Given the description of an element on the screen output the (x, y) to click on. 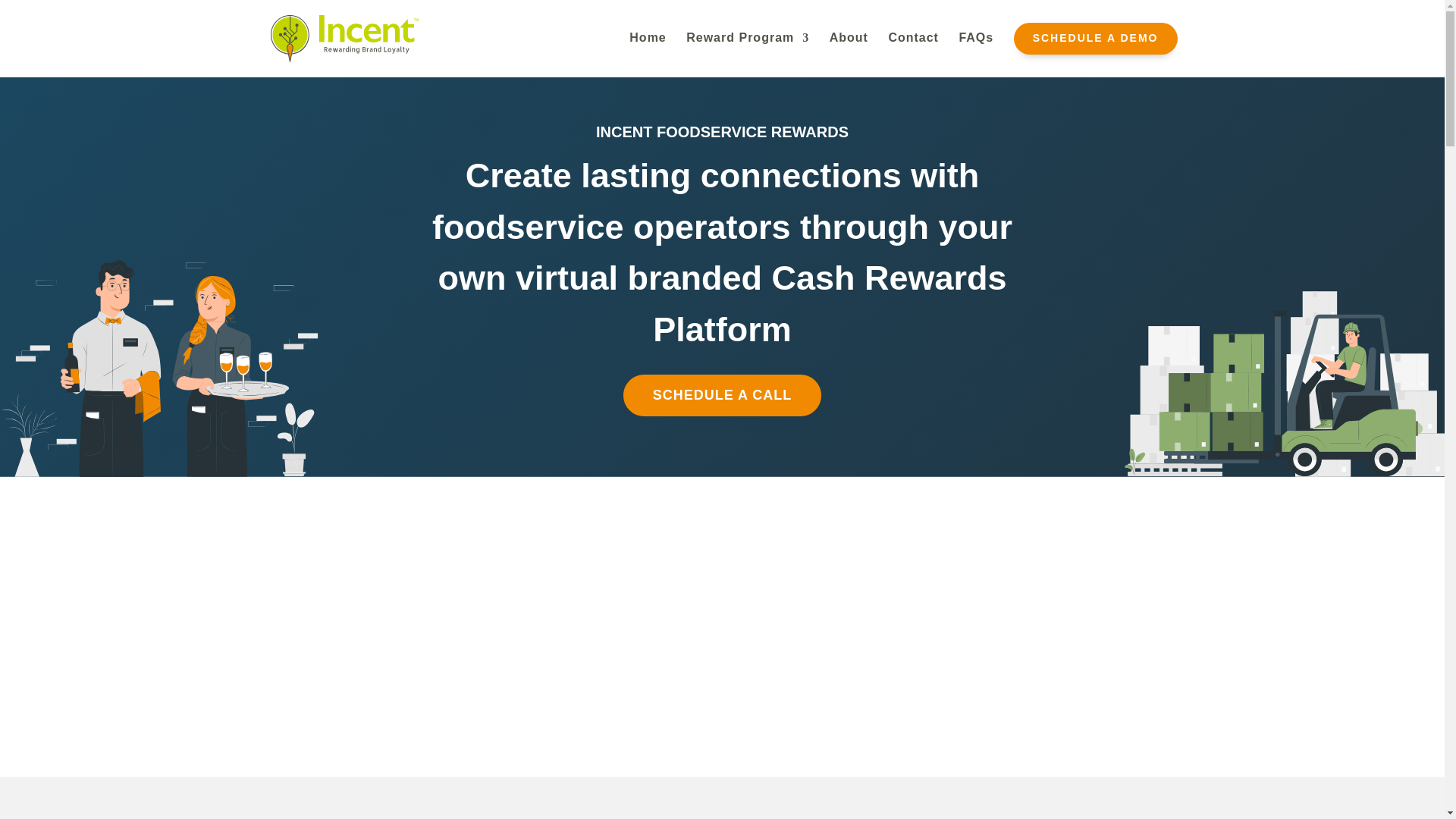
Contact (913, 49)
SCHEDULE A DEMO (1095, 49)
SCHEDULE A CALL (722, 395)
Reward Program (747, 49)
About (848, 49)
FAQs (975, 49)
Home (646, 49)
